Given the description of an element on the screen output the (x, y) to click on. 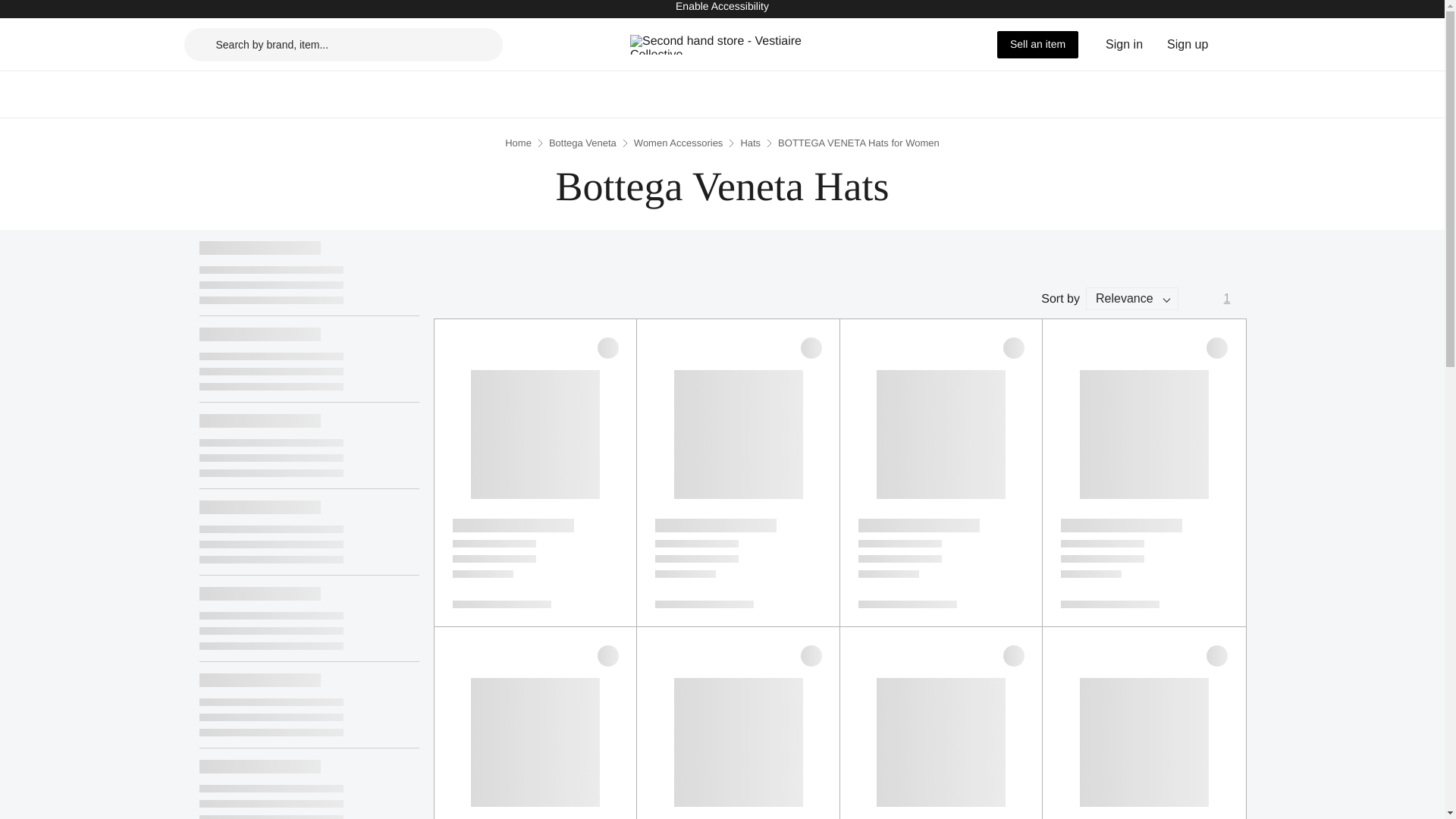
Bottega Veneta (581, 142)
Women Accessories (678, 142)
Relevance (1131, 298)
Search by brand, item... (342, 43)
Sign up (1187, 44)
Sign in (1123, 44)
Home (518, 142)
Sell an item (1037, 43)
Hats (749, 142)
